Given the description of an element on the screen output the (x, y) to click on. 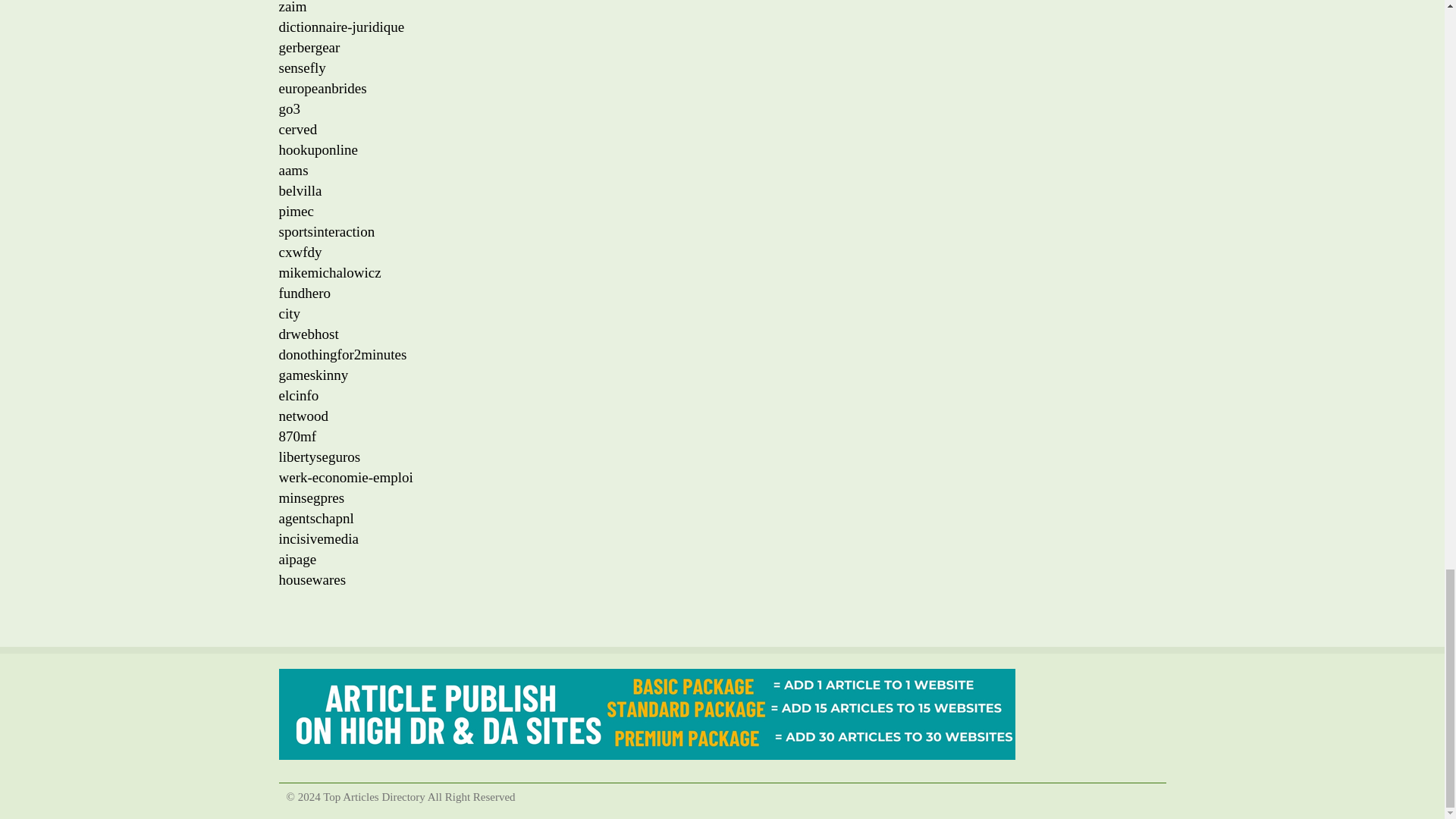
dictionnaire-juridique (341, 26)
hookuponline (318, 149)
cerved (298, 129)
sportsinteraction (327, 231)
go3 (290, 108)
pimec (296, 211)
zaim (293, 7)
aams (293, 170)
europeanbrides (322, 88)
belvilla (300, 190)
